Given the description of an element on the screen output the (x, y) to click on. 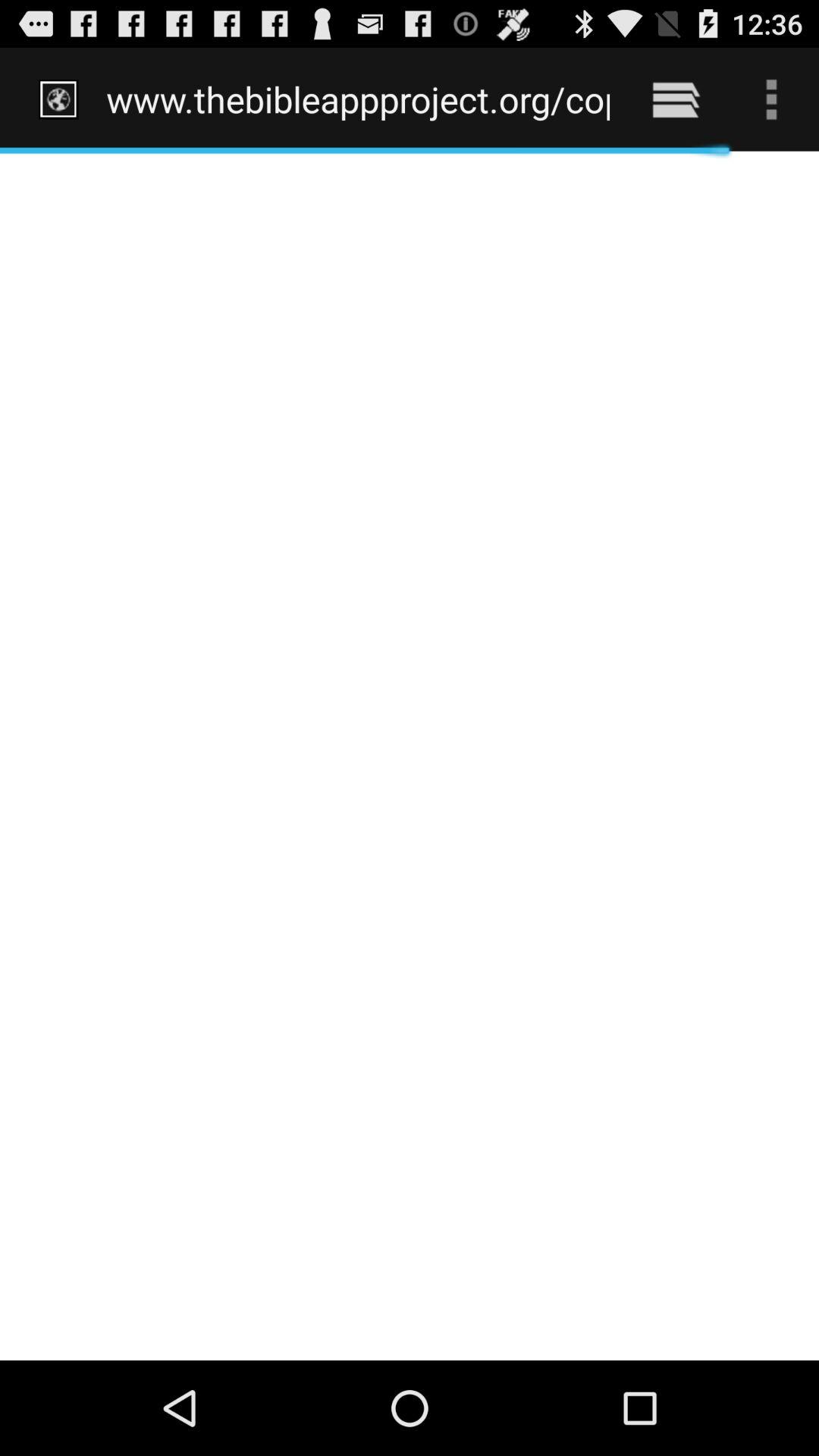
turn off the icon at the center (409, 755)
